Given the description of an element on the screen output the (x, y) to click on. 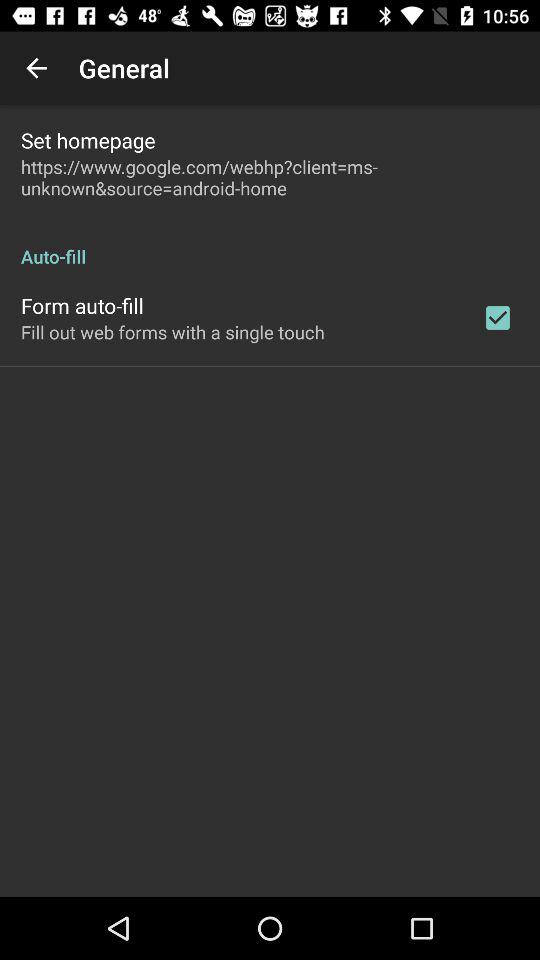
turn on the icon above https www google item (88, 139)
